Given the description of an element on the screen output the (x, y) to click on. 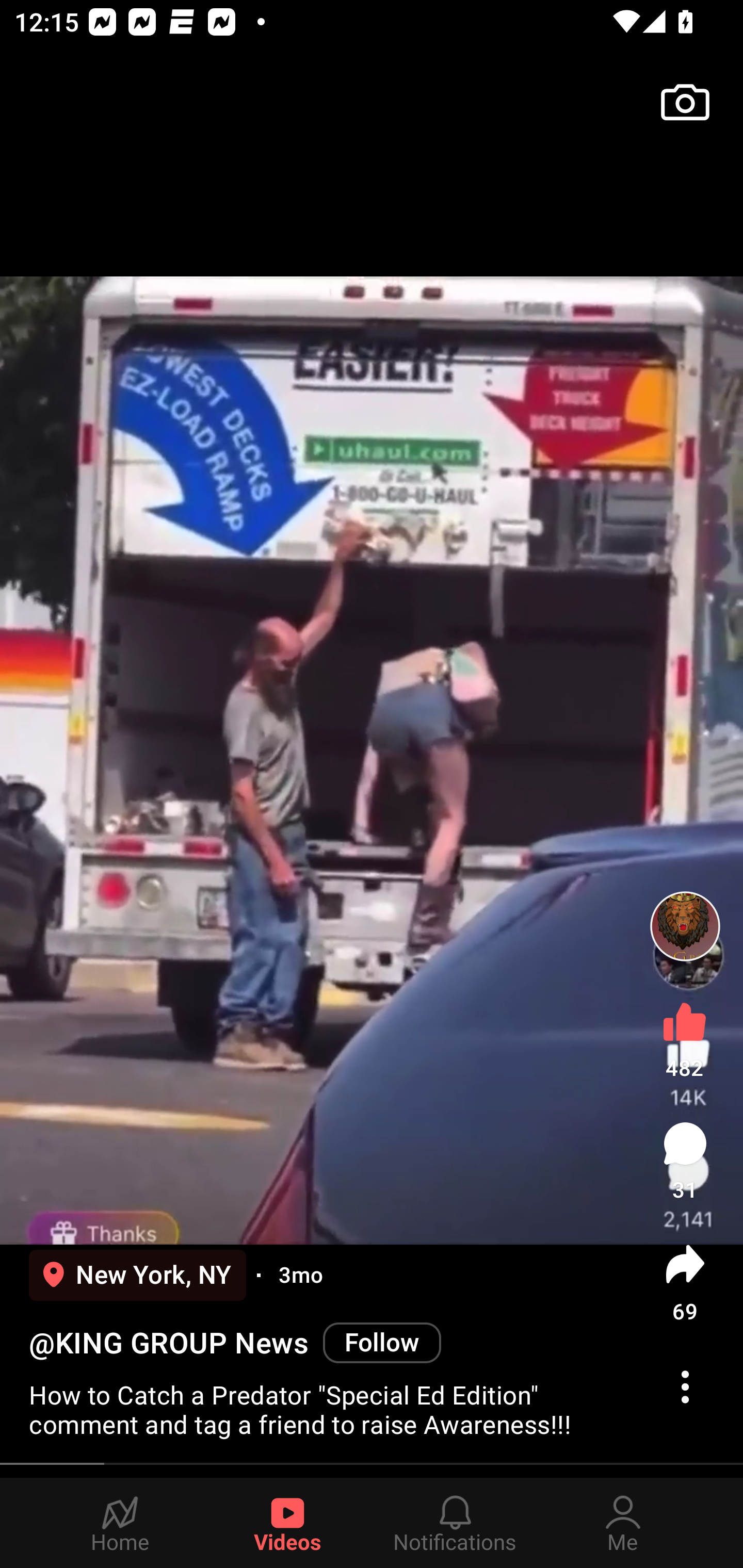
482 (684, 1035)
31 (684, 1160)
69 (684, 1282)
New York, NY (136, 1275)
Follow (382, 1341)
@KING GROUP News (168, 1343)
Home (119, 1522)
Notifications (455, 1522)
Me (622, 1522)
